Given the description of an element on the screen output the (x, y) to click on. 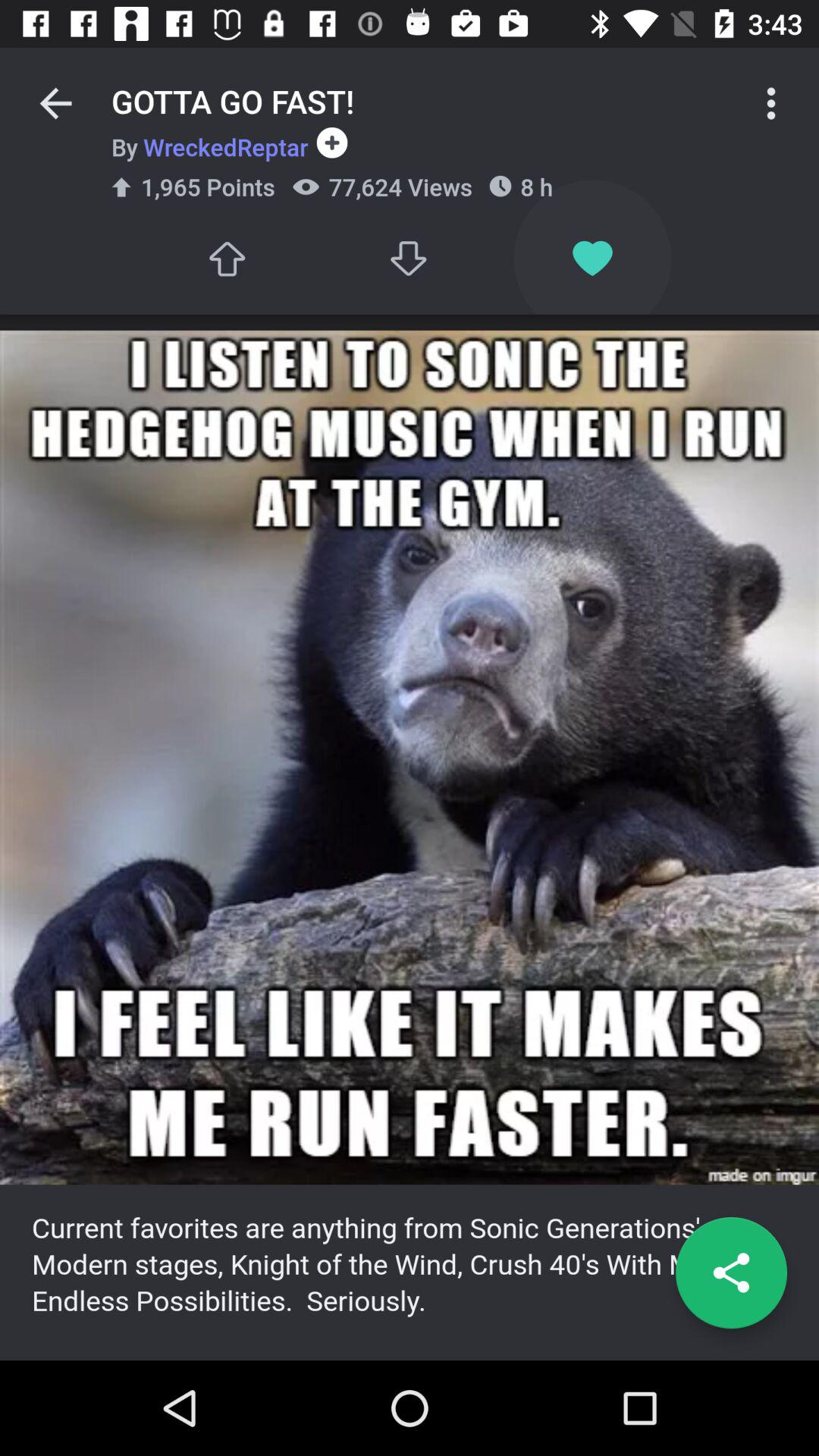
favorite the image (592, 258)
